Given the description of an element on the screen output the (x, y) to click on. 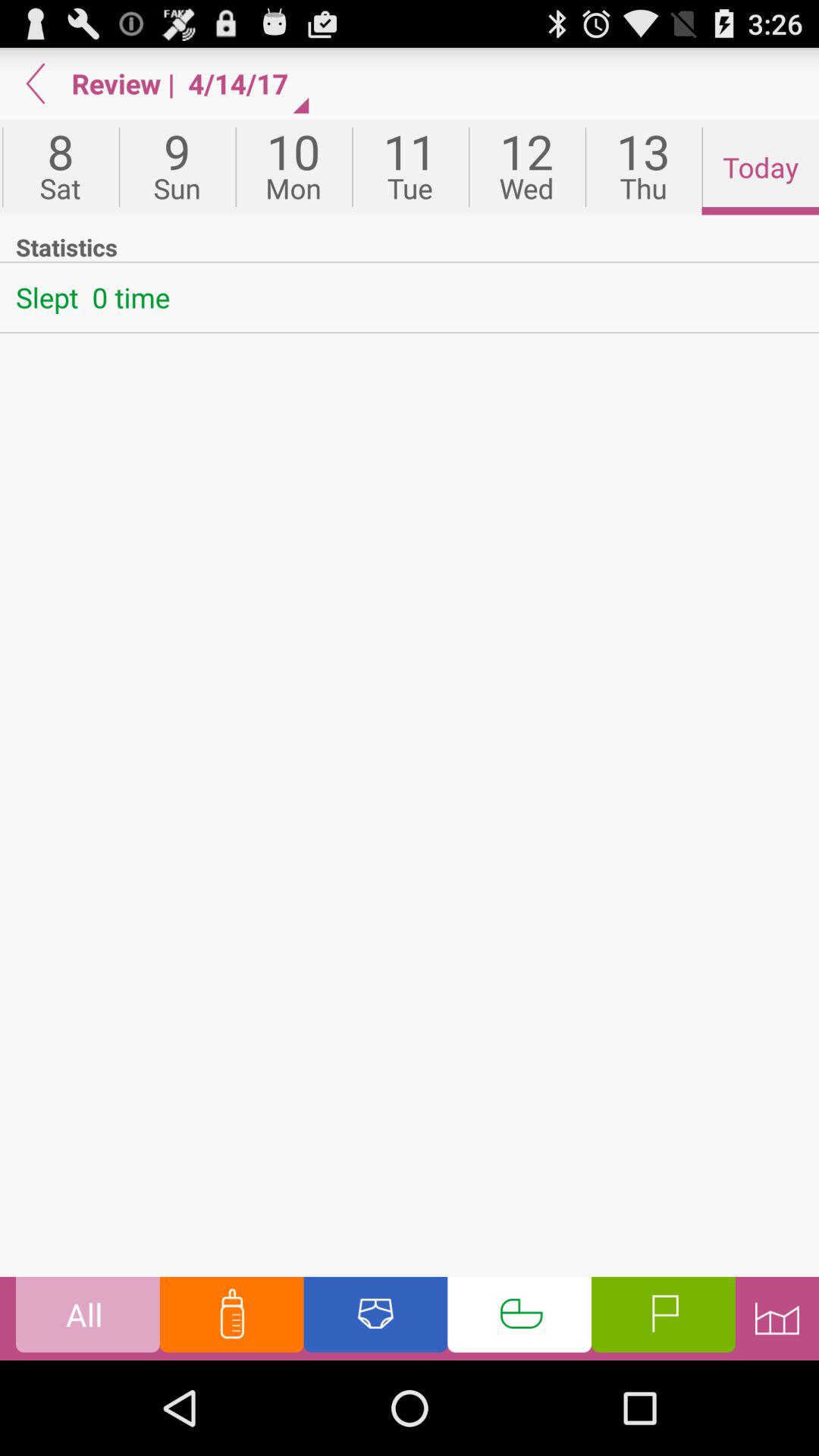
turn off the item above the 9 icon (244, 83)
